Given the description of an element on the screen output the (x, y) to click on. 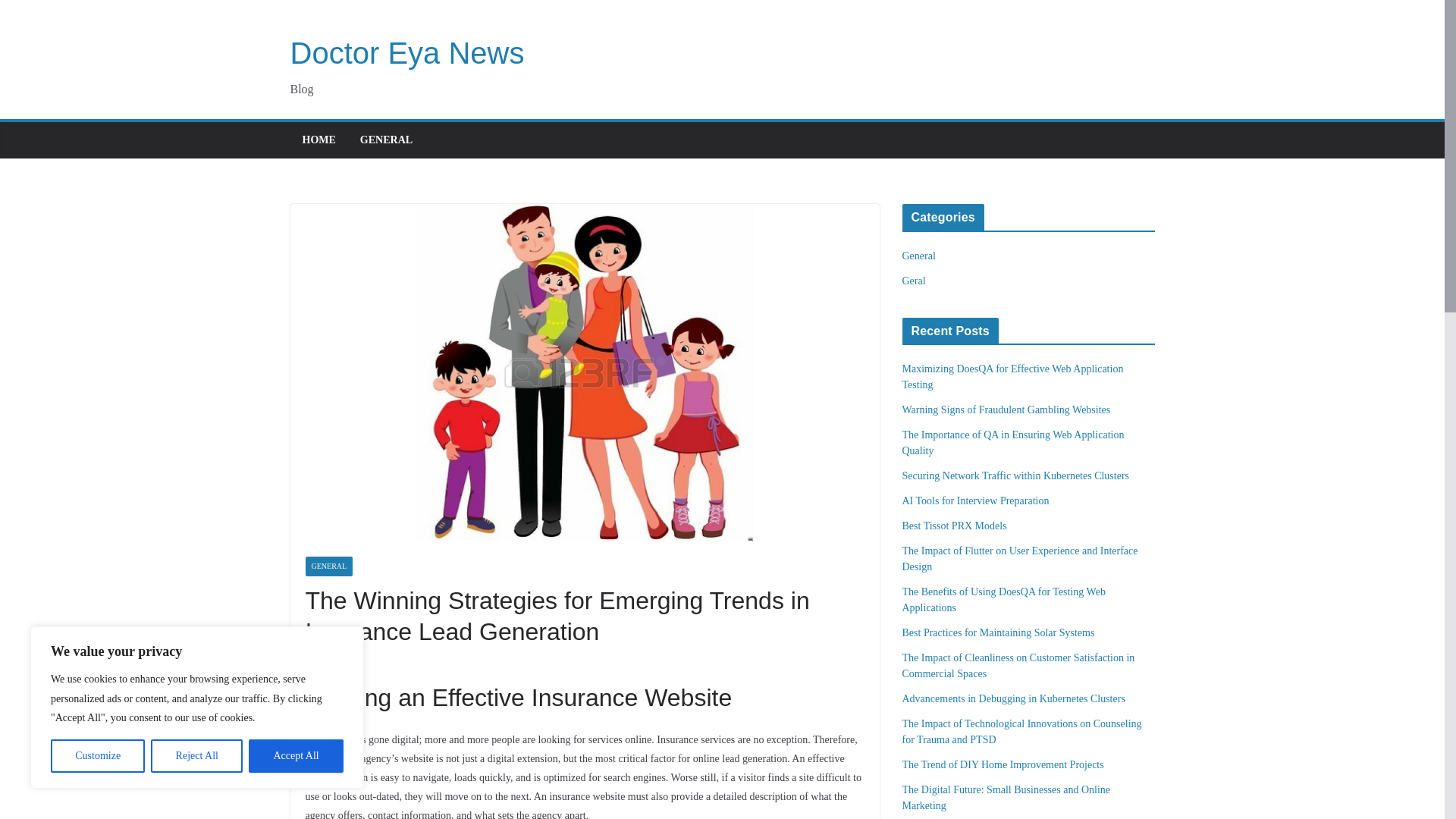
Doctor Eya News (406, 52)
GENERAL (328, 566)
General (919, 255)
The Importance of QA in Ensuring Web Application Quality (1013, 442)
Accept All (295, 756)
Reject All (197, 756)
HOME (317, 139)
Best Tissot PRX Models (954, 525)
Maximizing DoesQA for Effective Web Application Testing (1013, 376)
Securing Network Traffic within Kubernetes Clusters (1015, 475)
GENERAL (385, 139)
Customize (97, 756)
Doctor Eya News (406, 52)
Warning Signs of Fraudulent Gambling Websites (1006, 409)
Best Practices for Maintaining Solar Systems (998, 632)
